Given the description of an element on the screen output the (x, y) to click on. 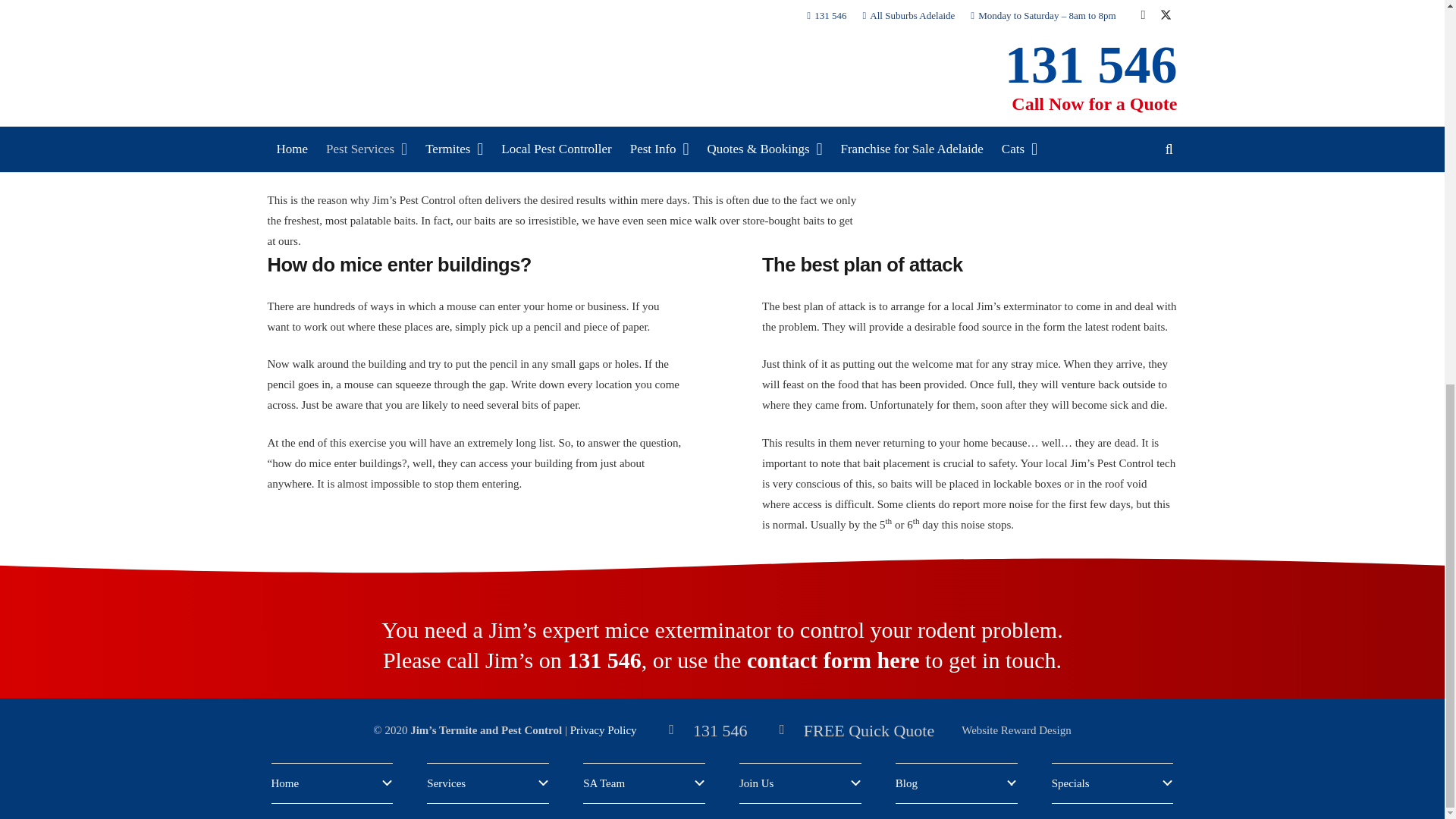
Join Us (800, 783)
Home (331, 783)
Blog (956, 783)
SA Team (643, 783)
Specials (1112, 783)
Services (487, 783)
